Given the description of an element on the screen output the (x, y) to click on. 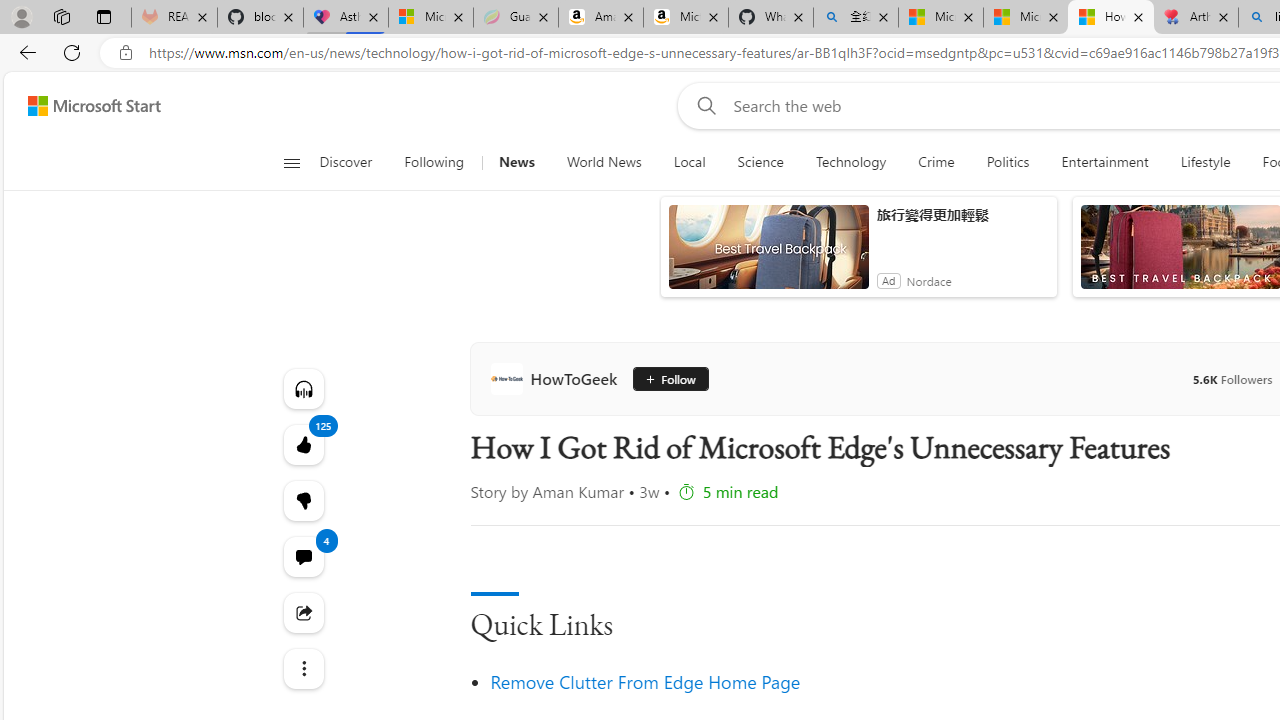
World News (603, 162)
125 Like (302, 444)
125 (302, 500)
HowToGeek (557, 378)
Microsoft-Report a Concern to Bing (431, 17)
Class: button-glyph (290, 162)
Close tab (1222, 16)
Crime (935, 162)
Lifestyle (1205, 162)
Politics (1007, 162)
Science (760, 162)
See more (302, 668)
Discover (345, 162)
Following (433, 162)
